Given the description of an element on the screen output the (x, y) to click on. 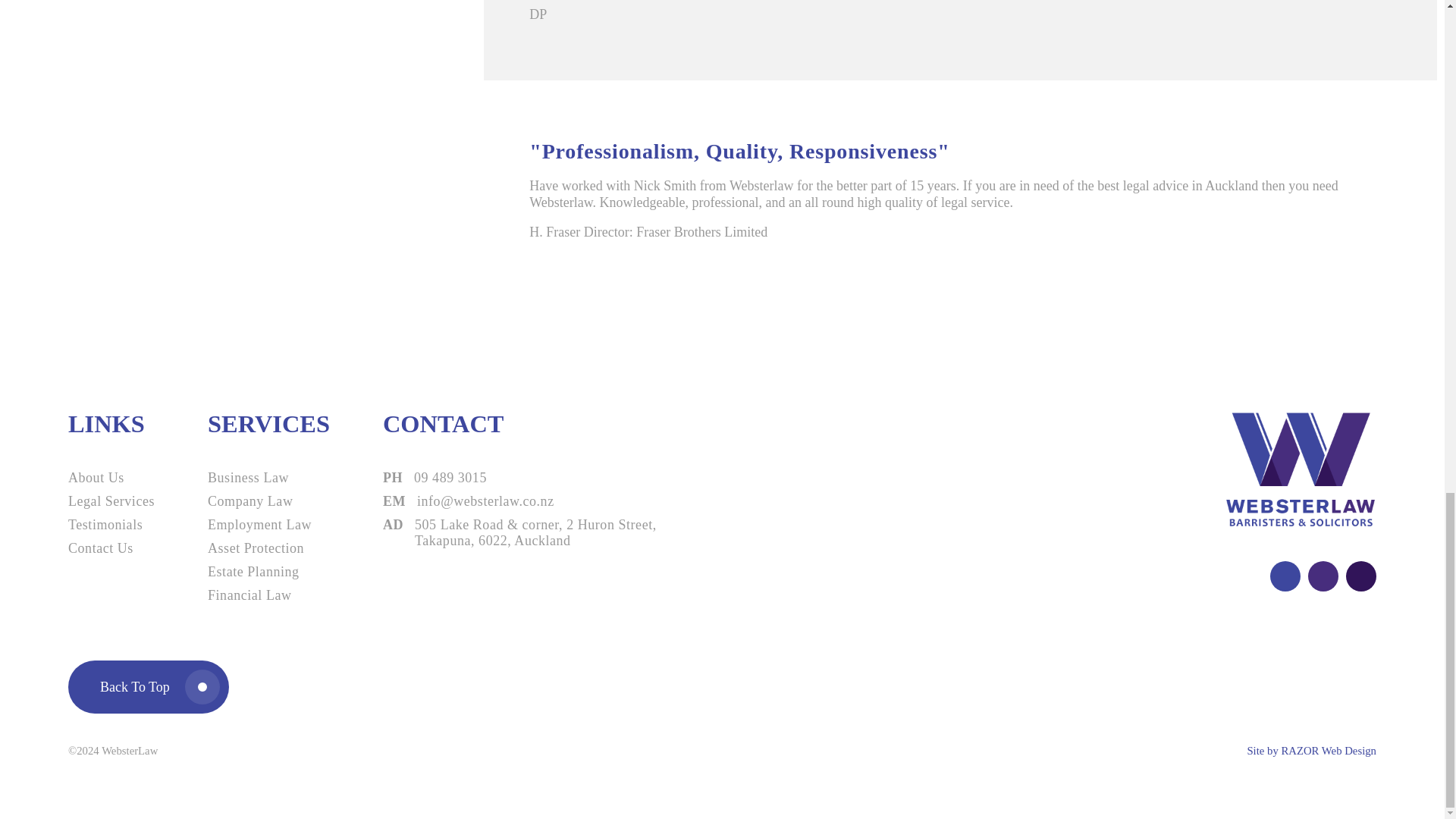
Asset Protection (269, 548)
Estate Planning (269, 571)
Contact Us (111, 548)
Another professional web site design by RAZOR Web Design. (1310, 750)
Company Law (269, 501)
Testimonials (111, 525)
Site by RAZOR Web Design (1310, 750)
About Us (111, 477)
Business Law (269, 477)
Back To Top (148, 686)
